Given the description of an element on the screen output the (x, y) to click on. 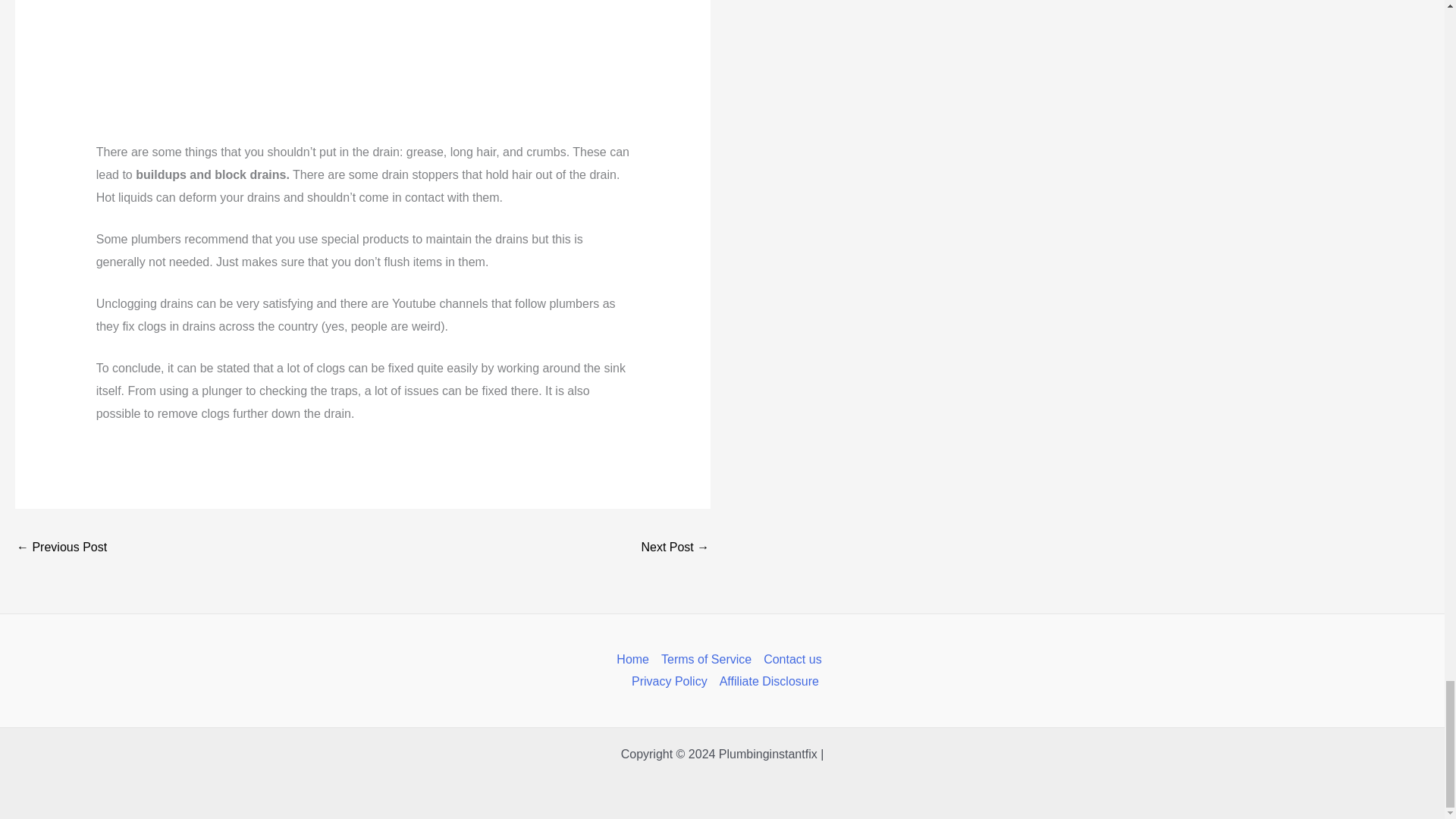
Affiliate Disclosure (765, 681)
Blocked Drain 333 (363, 70)
Home (635, 659)
Terms of Service (706, 659)
Contact us (792, 659)
Privacy Policy (669, 681)
Kitchen sink and drain clogged with grease: how to unclog (674, 548)
